Given the description of an element on the screen output the (x, y) to click on. 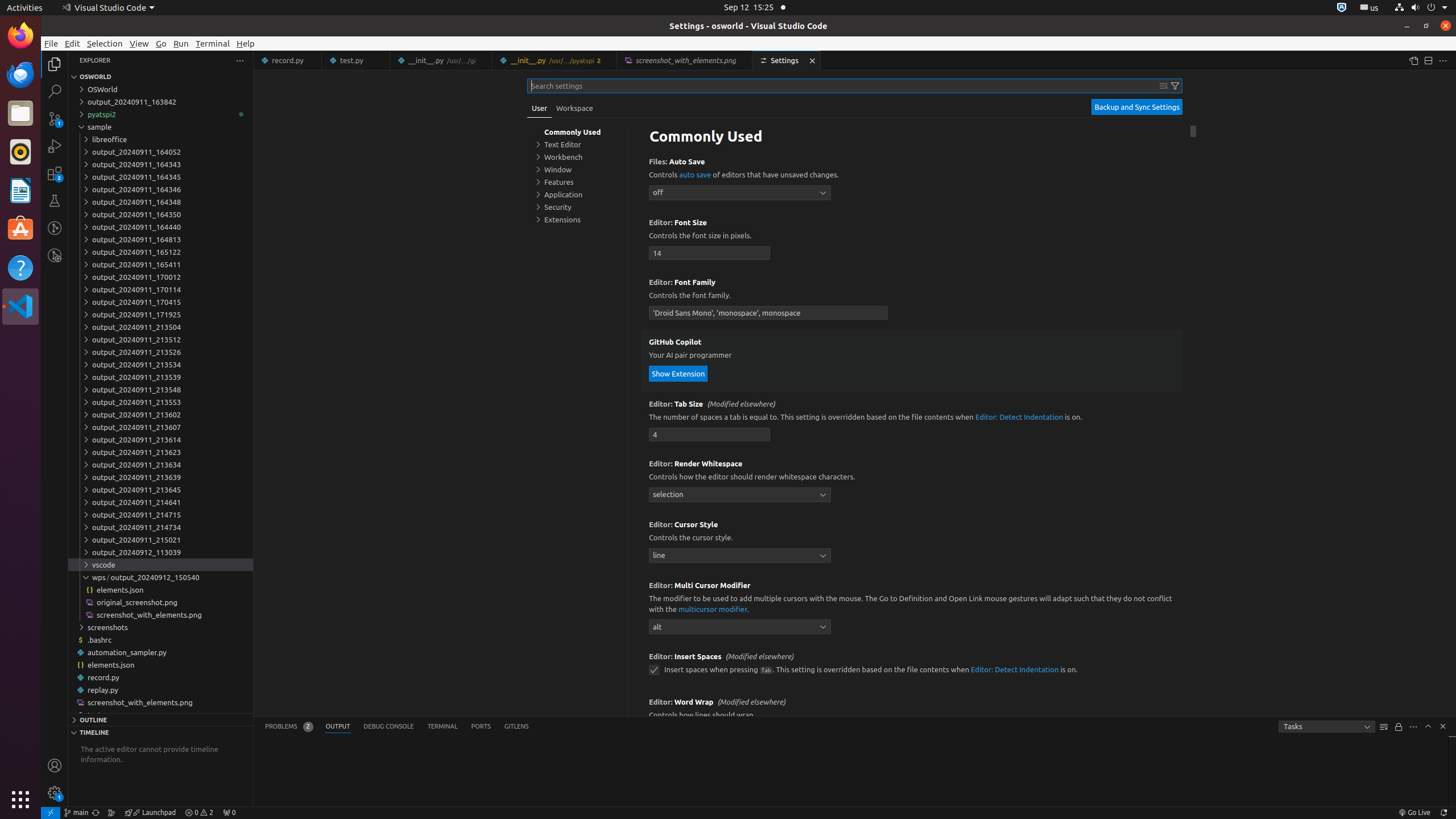
Editor: Detect Indentation Element type: link (1019, 416)
Firefox Web Browser Element type: push-button (20, 35)
record.py Element type: page-tab (287, 60)
line Element type: menu-item (739, 555)
vscode Element type: tree-item (160, 564)
